Given the description of an element on the screen output the (x, y) to click on. 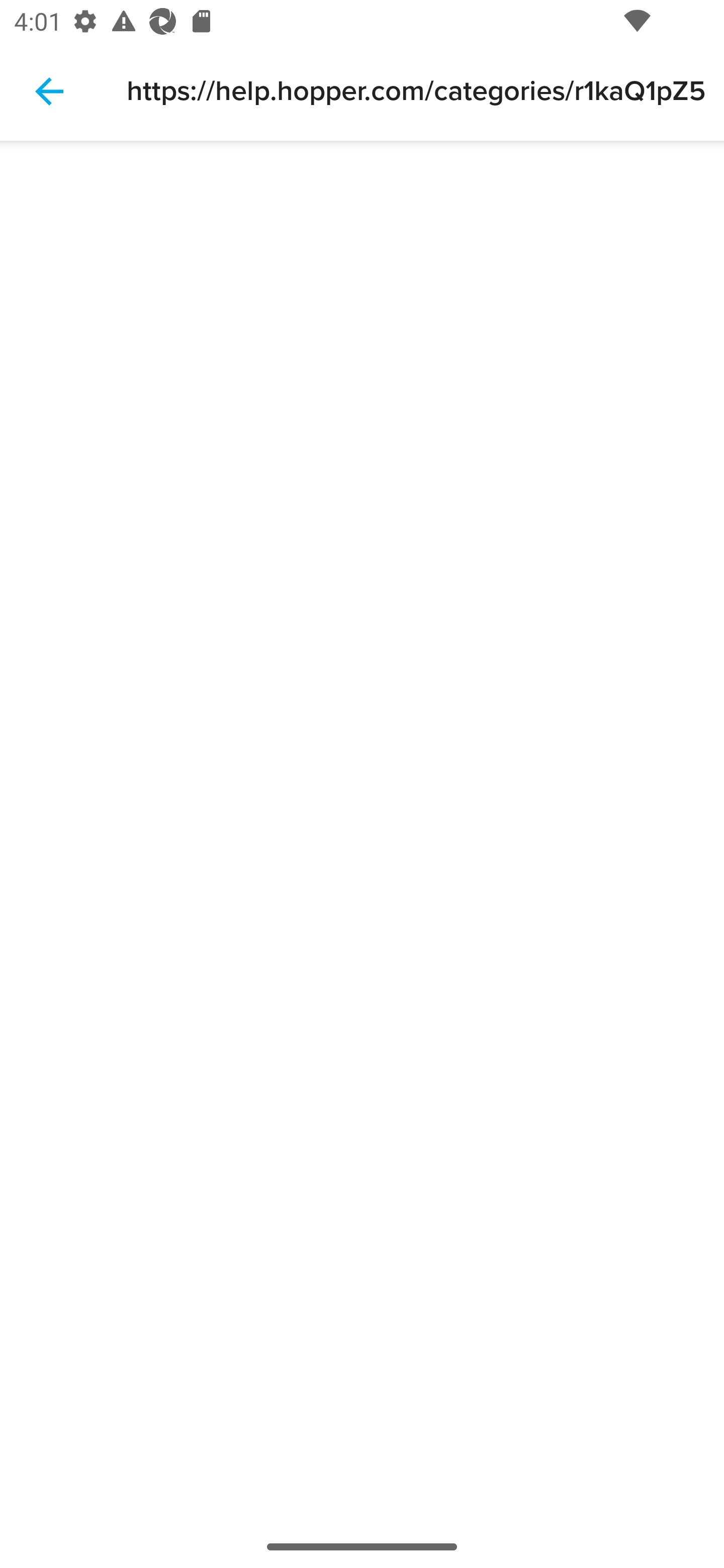
Navigate up (49, 91)
